Given the description of an element on the screen output the (x, y) to click on. 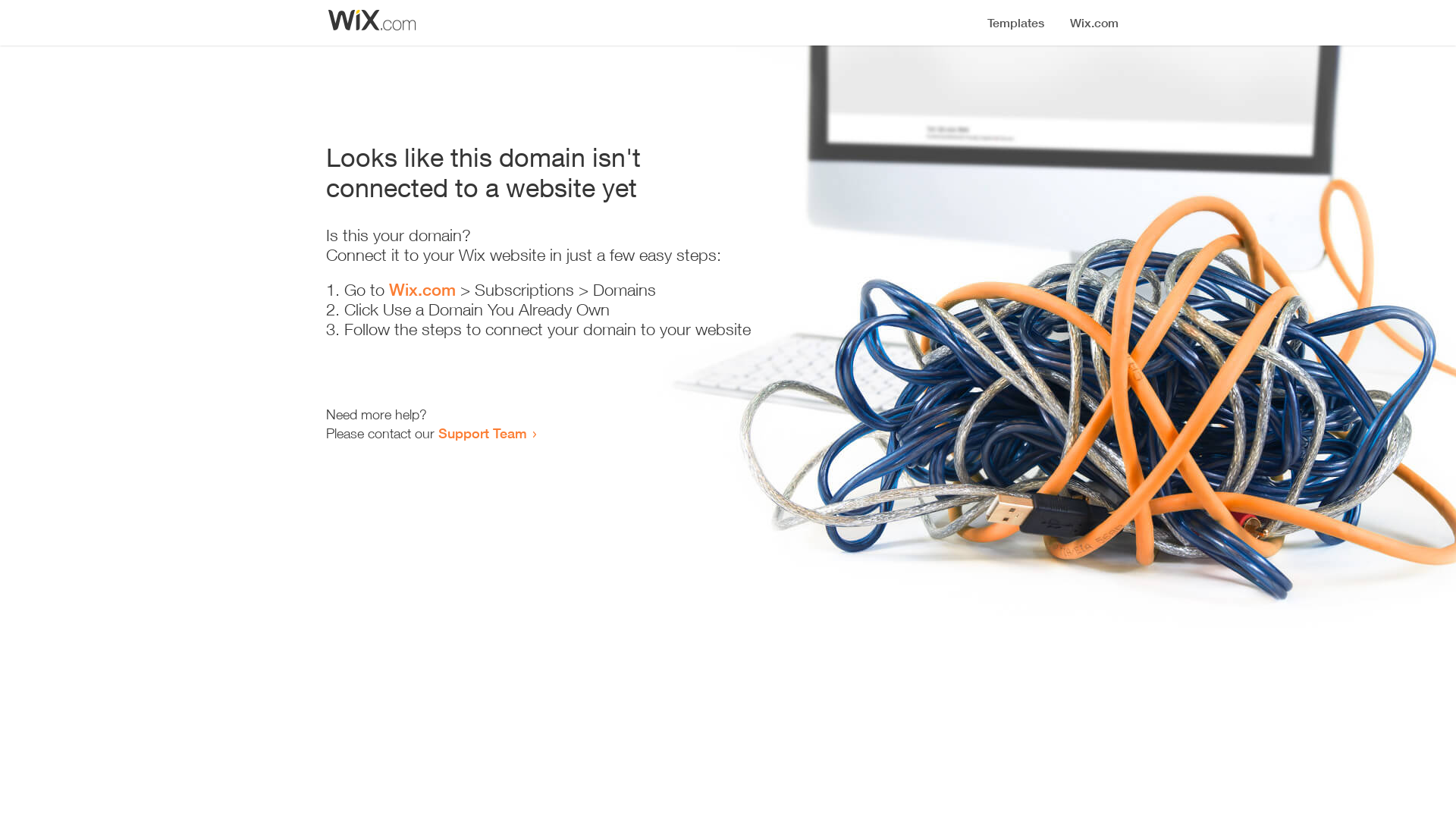
Wix.com Element type: text (422, 289)
Support Team Element type: text (482, 432)
